Given the description of an element on the screen output the (x, y) to click on. 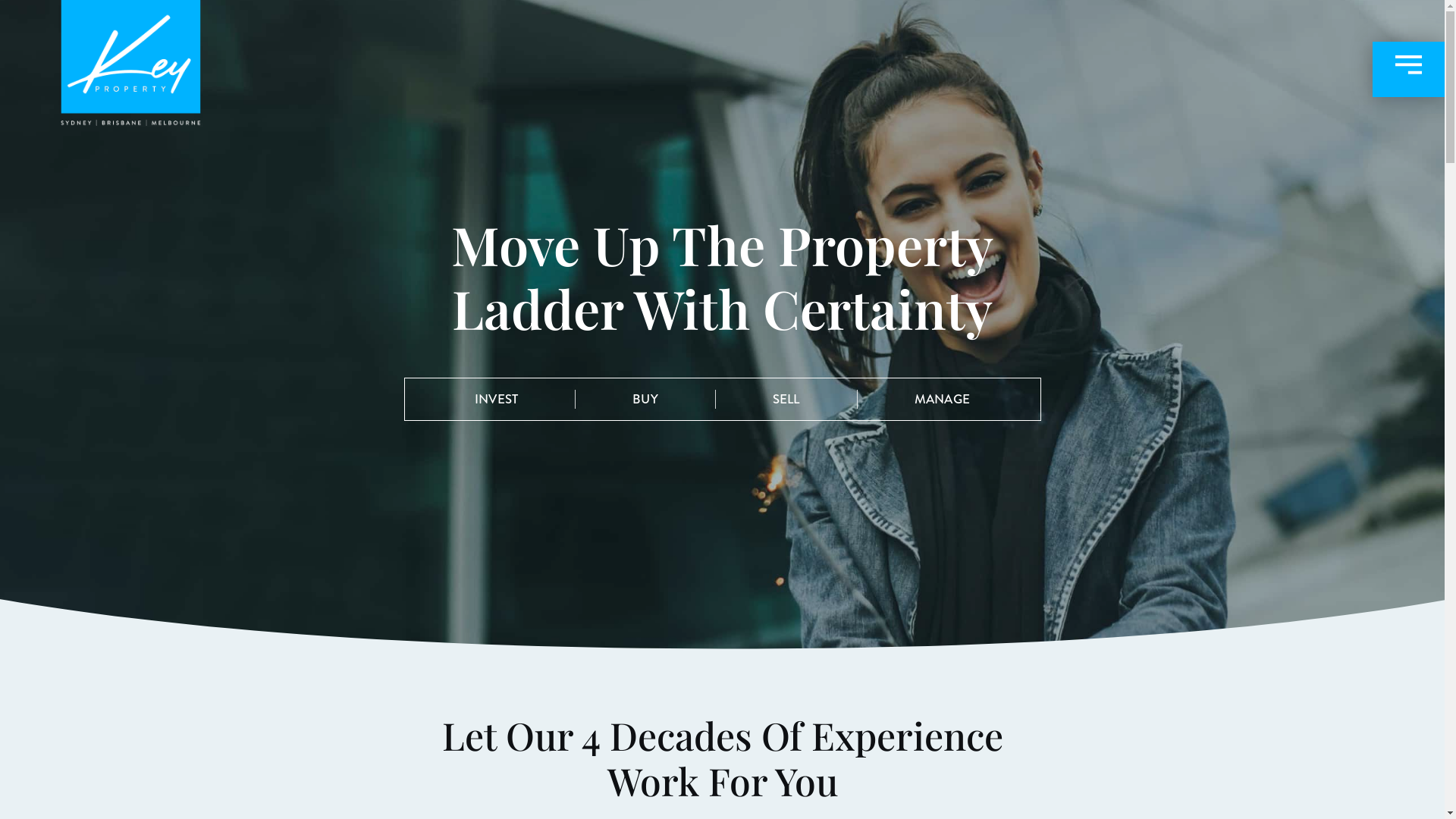
BUY Element type: text (645, 399)
MANAGE Element type: text (941, 399)
INVEST Element type: text (495, 399)
SELL Element type: text (786, 399)
Menu Element type: text (1408, 69)
